Given the description of an element on the screen output the (x, y) to click on. 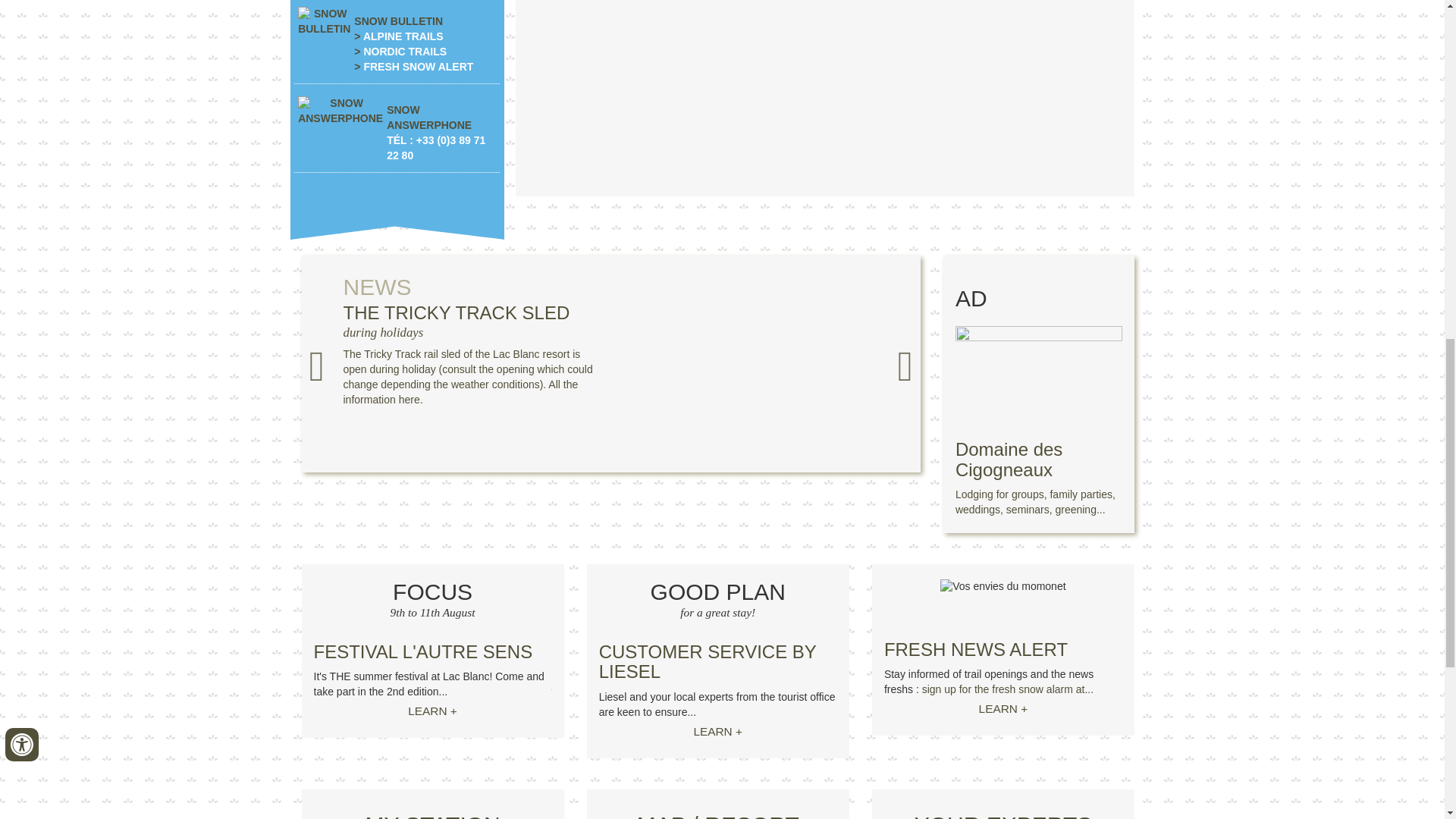
Snow bulletin (324, 21)
Snow answerphone (340, 111)
